Given the description of an element on the screen output the (x, y) to click on. 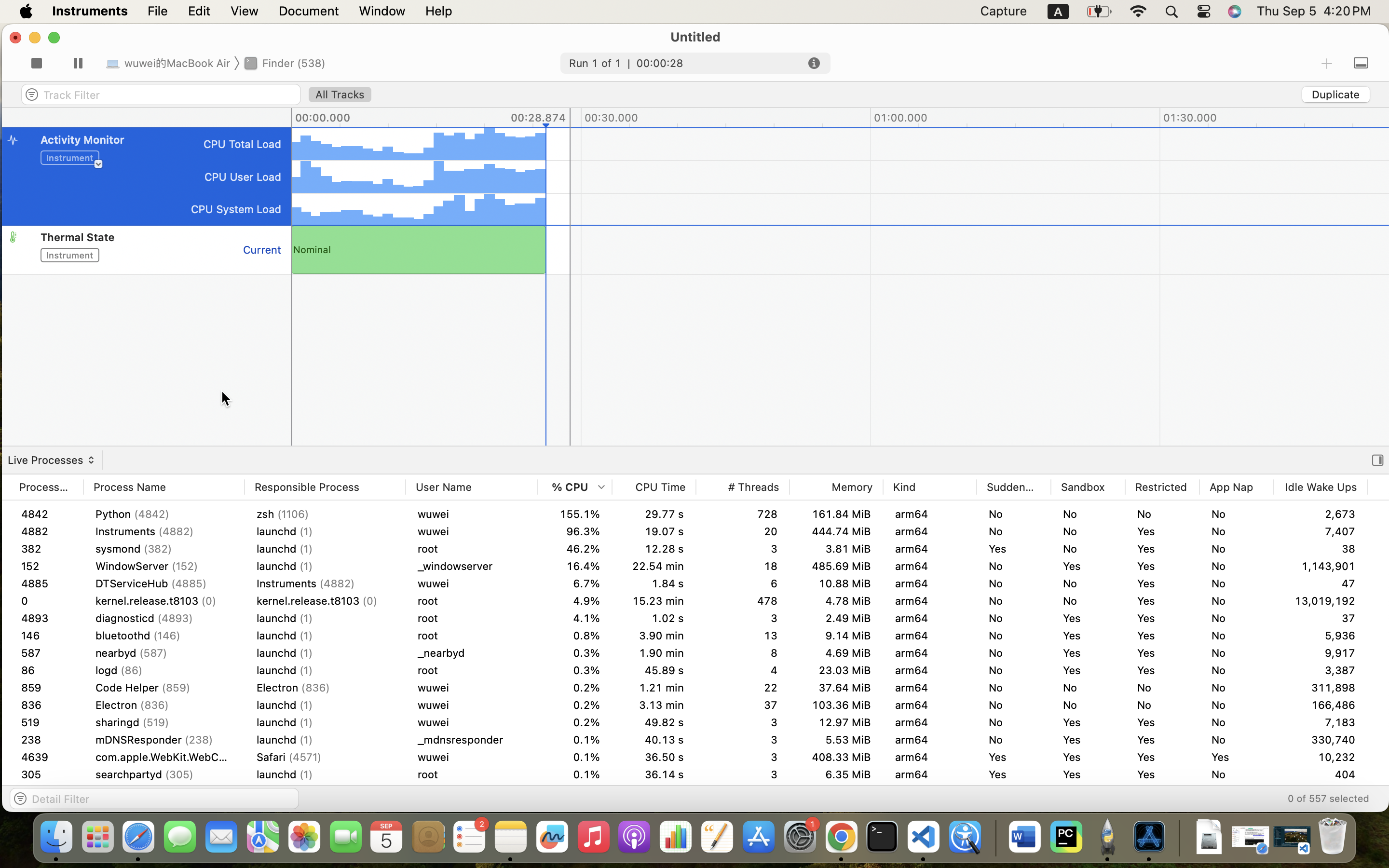
1.1% Element type: AXStaticText (574, 739)
7 Element type: AXStaticText (742, 756)
1.45 s Element type: AXStaticText (653, 600)
3 Element type: AXStaticText (742, 687)
4.69 MiB Element type: AXStaticText (835, 652)
